Given the description of an element on the screen output the (x, y) to click on. 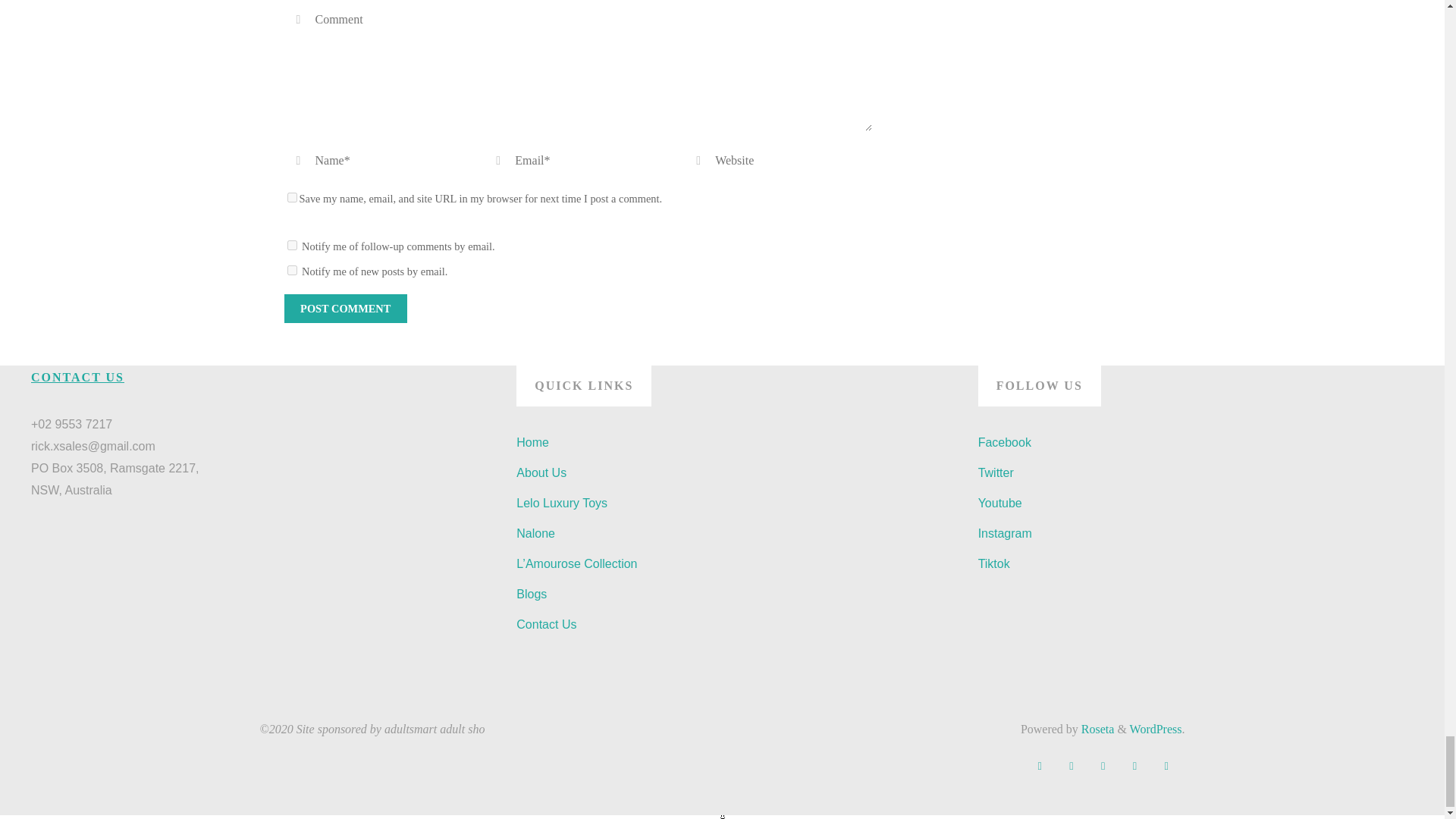
subscribe (291, 270)
subscribe (291, 245)
Post Comment (344, 308)
yes (291, 197)
